Given the description of an element on the screen output the (x, y) to click on. 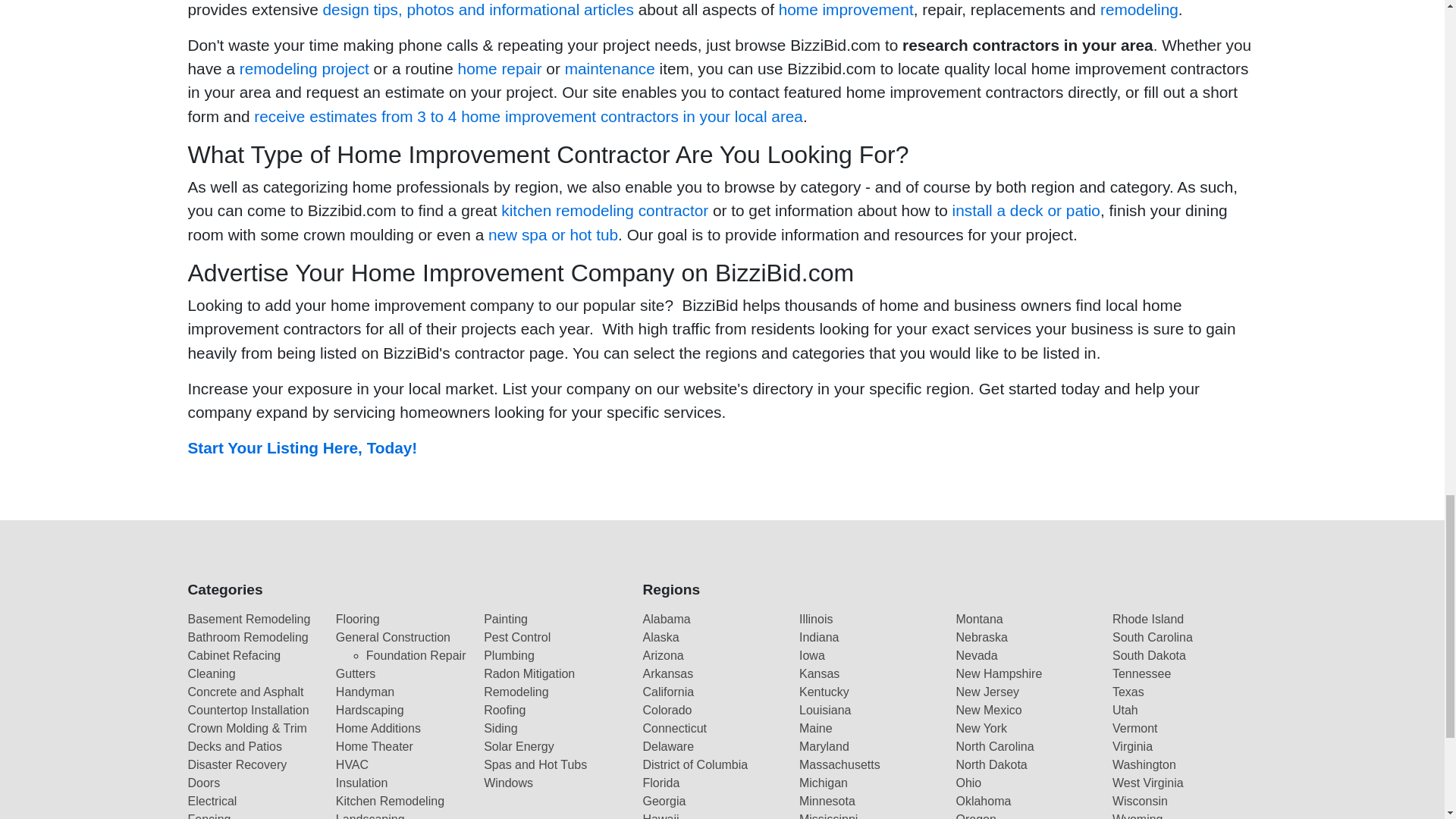
home improvement articles (478, 9)
